Given the description of an element on the screen output the (x, y) to click on. 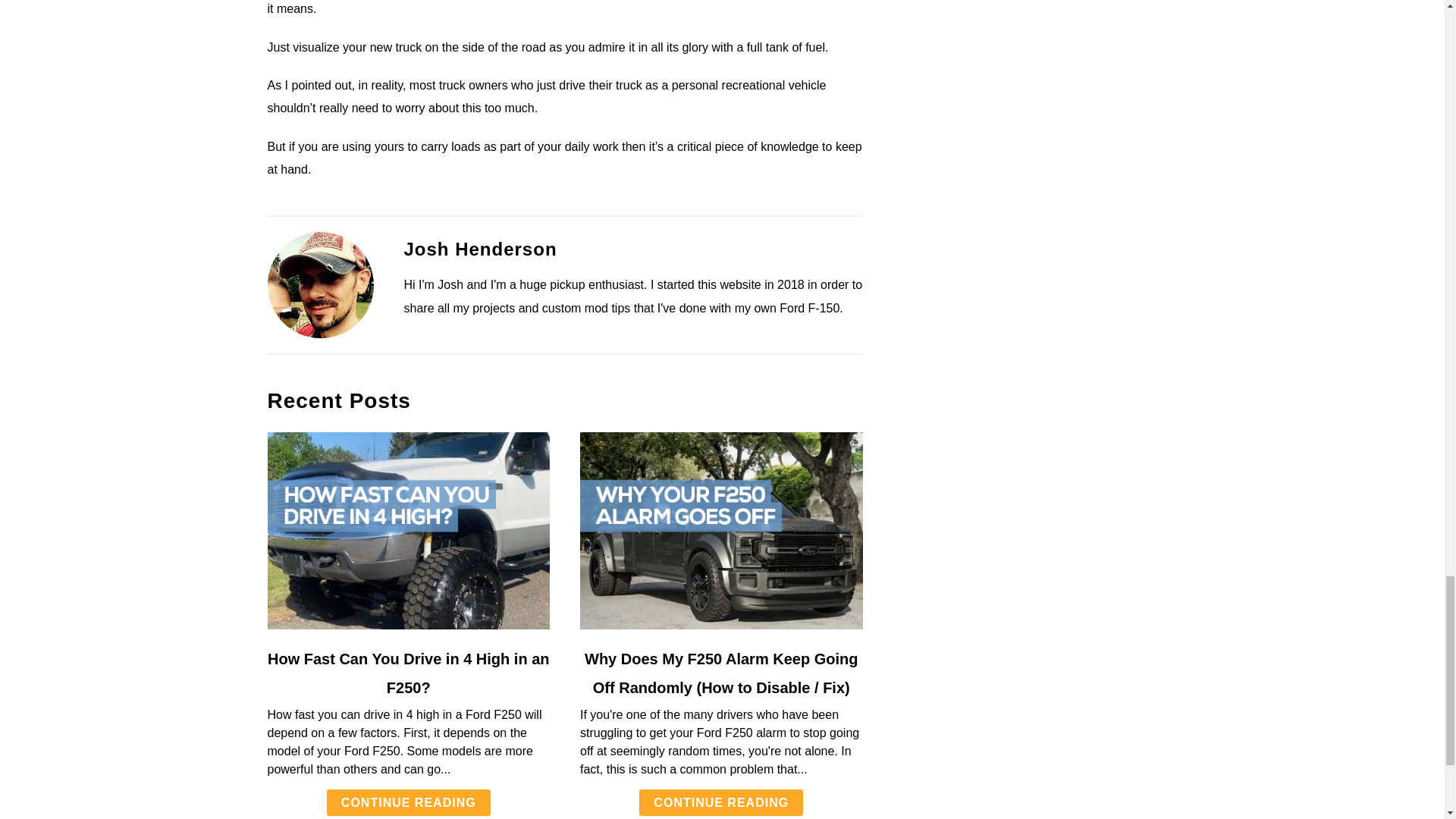
link to How Fast Can You Drive in 4 High in an F250? (408, 530)
How Fast Can You Drive in 4 High in an F250? (408, 673)
CONTINUE READING (408, 802)
Josh Henderson (479, 249)
CONTINUE READING (721, 802)
